Given the description of an element on the screen output the (x, y) to click on. 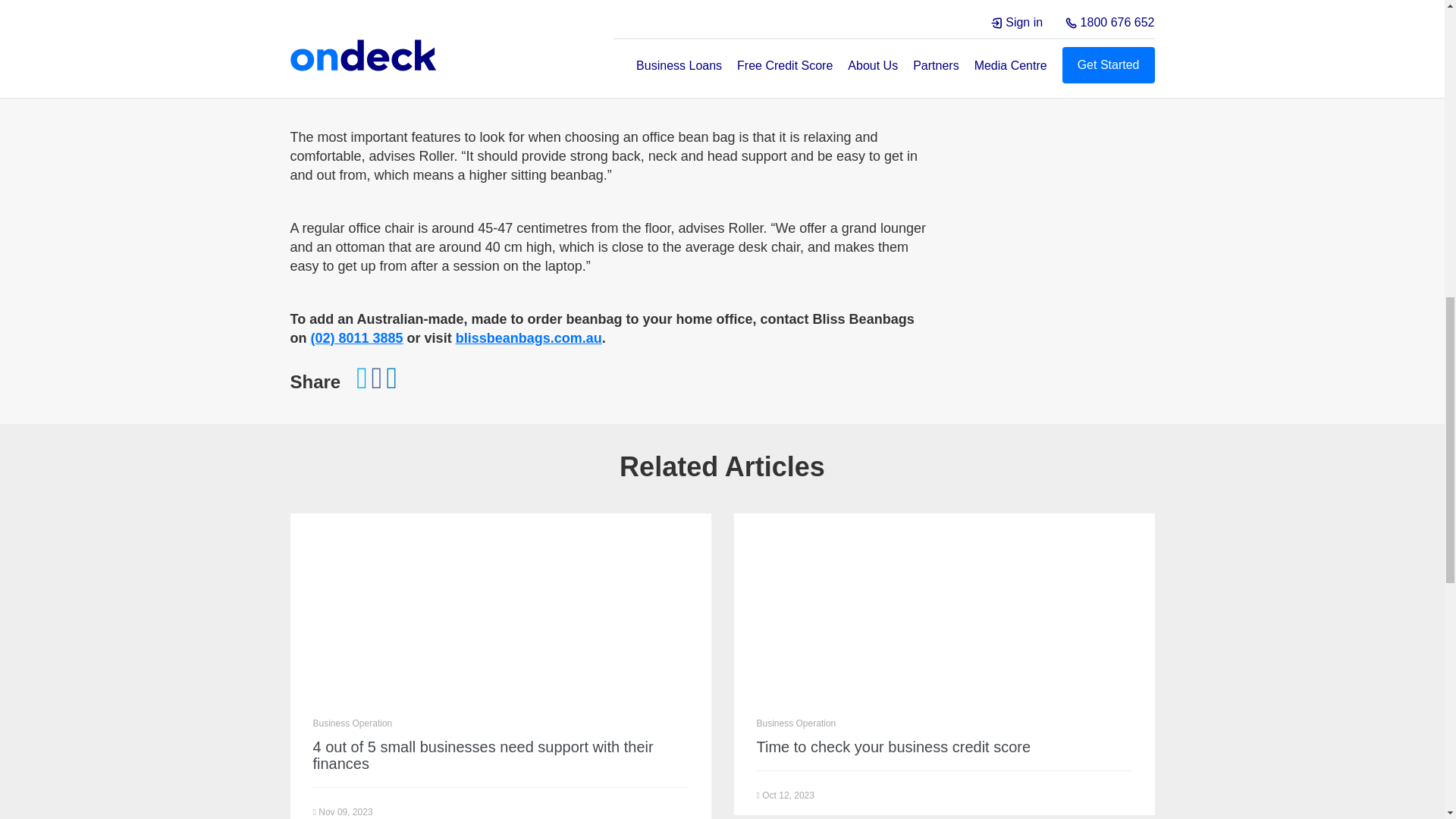
blissbeanbags.com.au (528, 337)
